Given the description of an element on the screen output the (x, y) to click on. 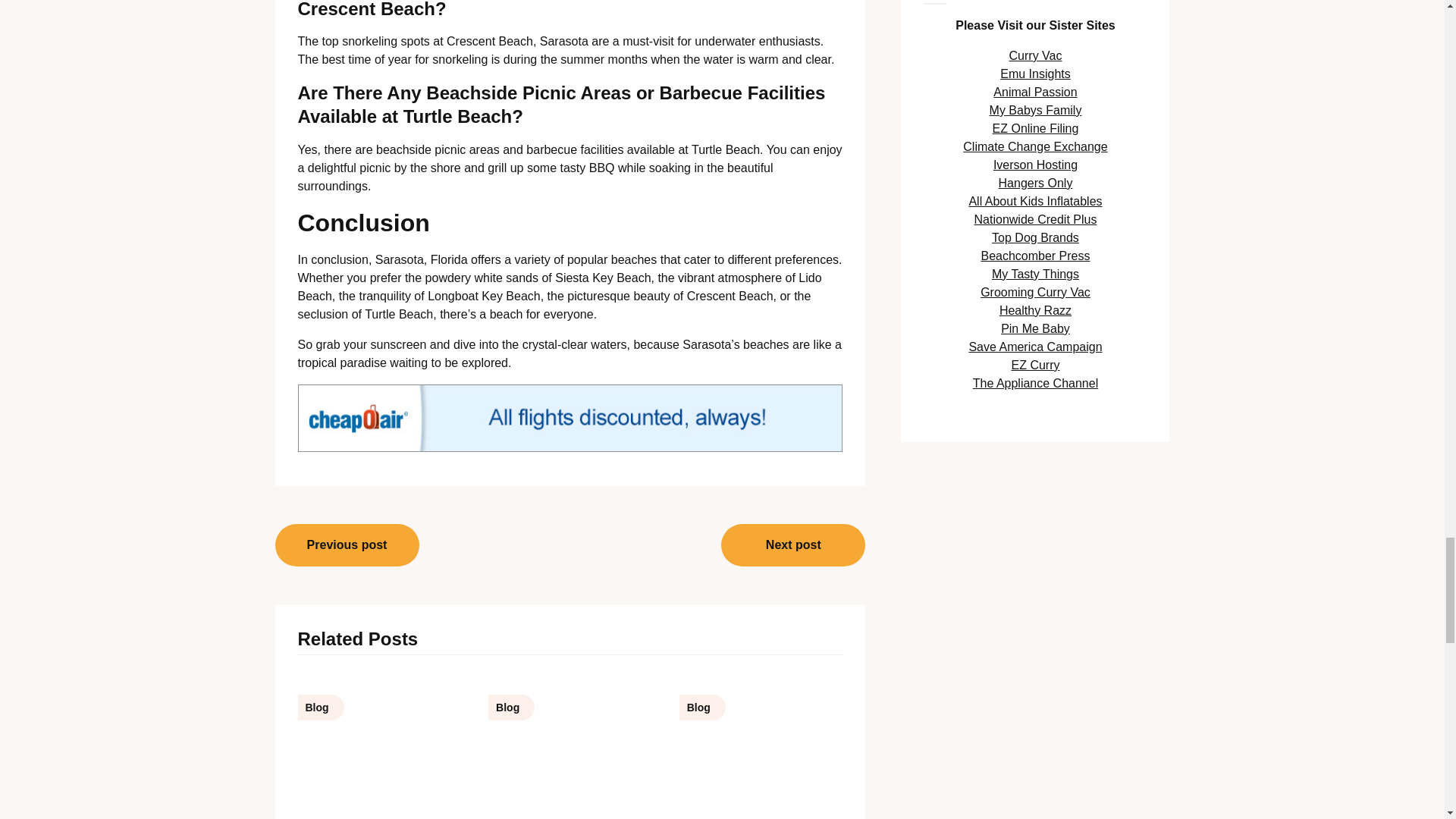
Previous post (347, 545)
Blog (379, 744)
Next post (792, 545)
Blog (569, 744)
